Given the description of an element on the screen output the (x, y) to click on. 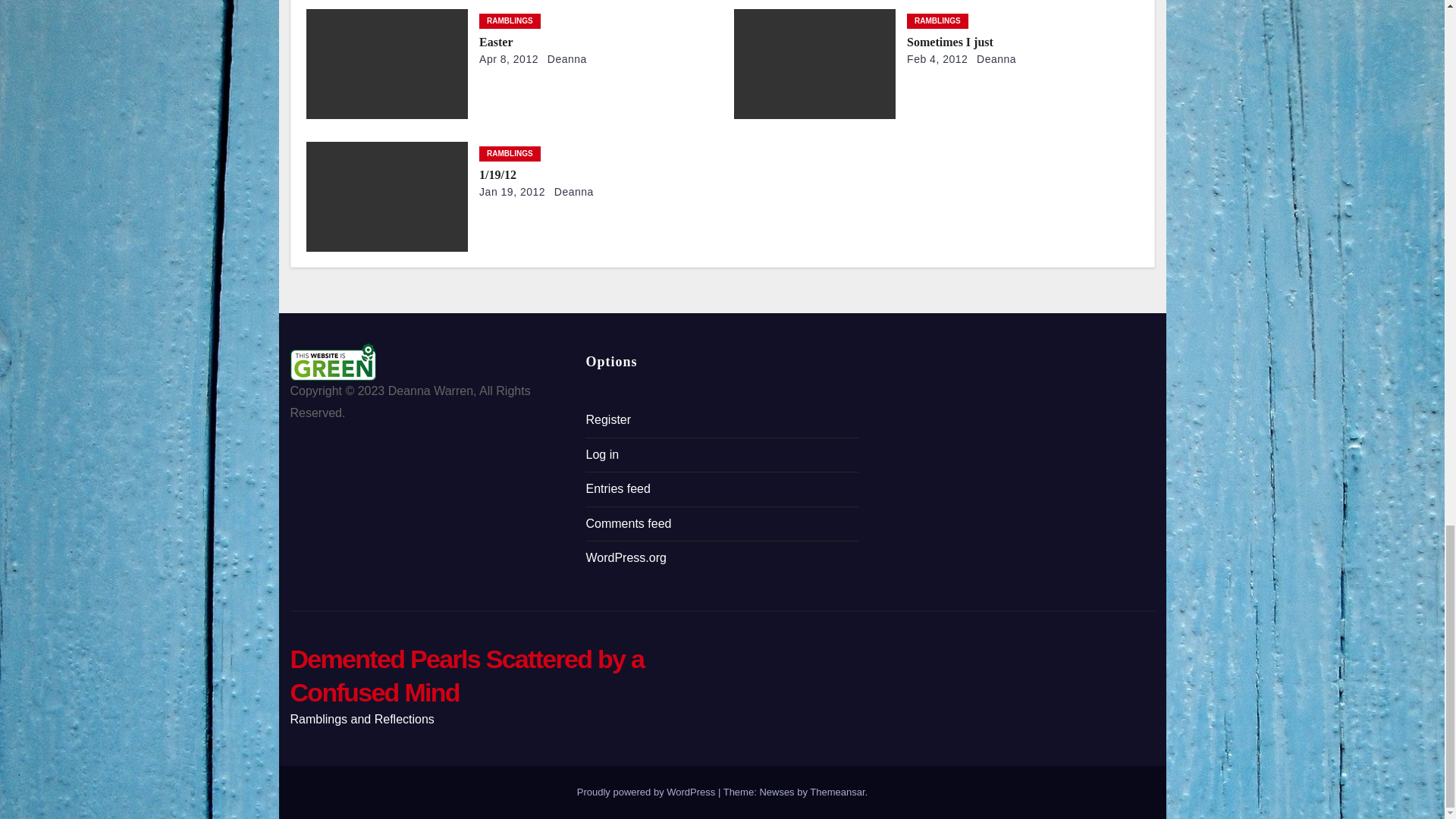
Permalink to: Easter (495, 42)
Apr 8, 2012 (508, 59)
RAMBLINGS (509, 153)
RAMBLINGS (509, 20)
Deanna (563, 59)
Easter (495, 42)
Jan 19, 2012 (511, 191)
Deanna (570, 191)
